Given the description of an element on the screen output the (x, y) to click on. 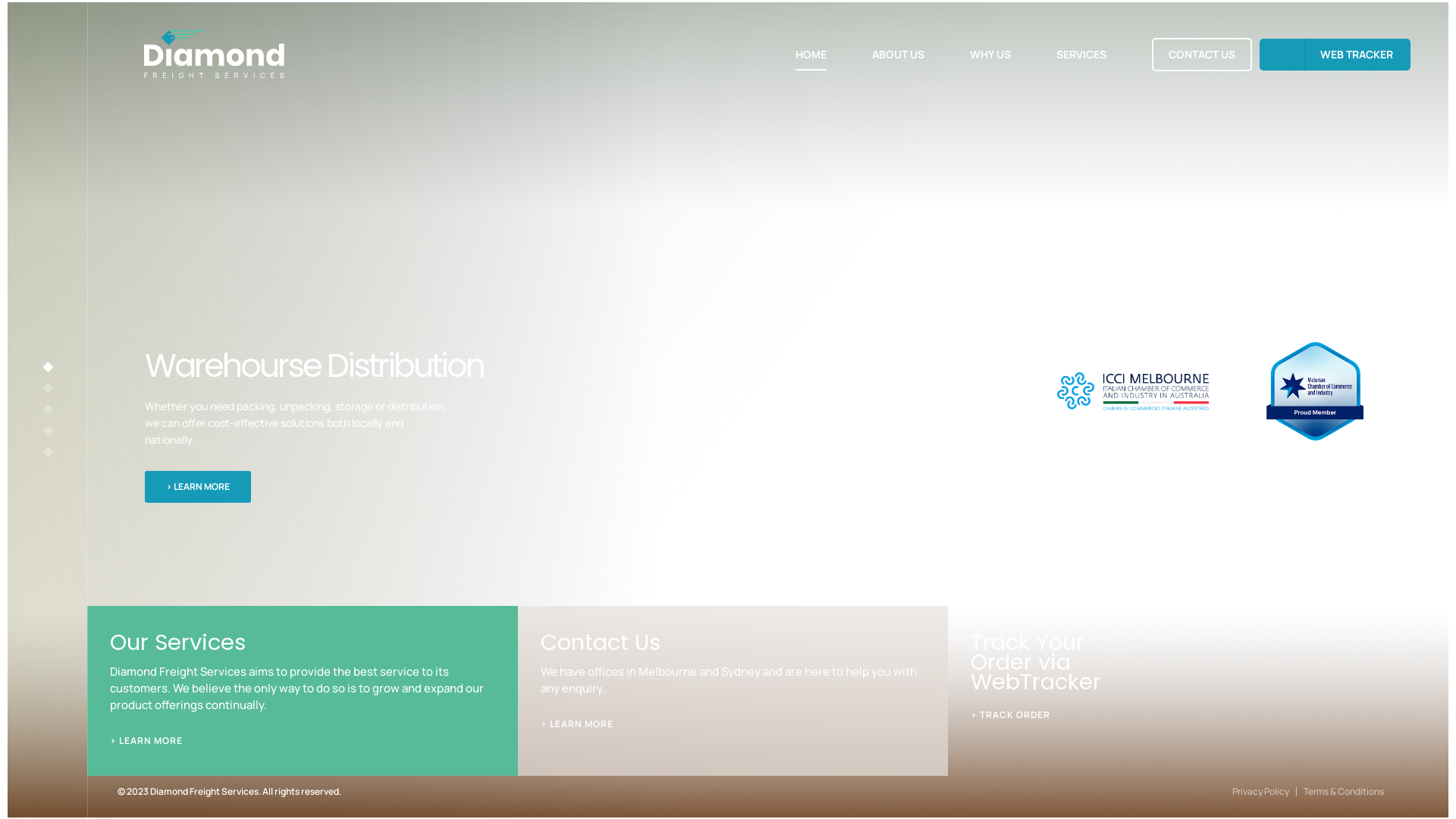
WEB TRACKER Element type: text (1334, 53)
> LEARN MORE Element type: text (197, 486)
Terms & Conditions Element type: text (1339, 791)
SERVICES Element type: text (1081, 53)
> LEARN MORE Element type: text (576, 723)
ABOUT US Element type: text (898, 53)
HOME Element type: text (810, 53)
Privacy Policy Element type: text (1257, 791)
CONTACT US Element type: text (1201, 54)
WHY US Element type: text (989, 53)
> LEARN MORE Element type: text (145, 740)
> TRACK ORDER Element type: text (1010, 714)
